Given the description of an element on the screen output the (x, y) to click on. 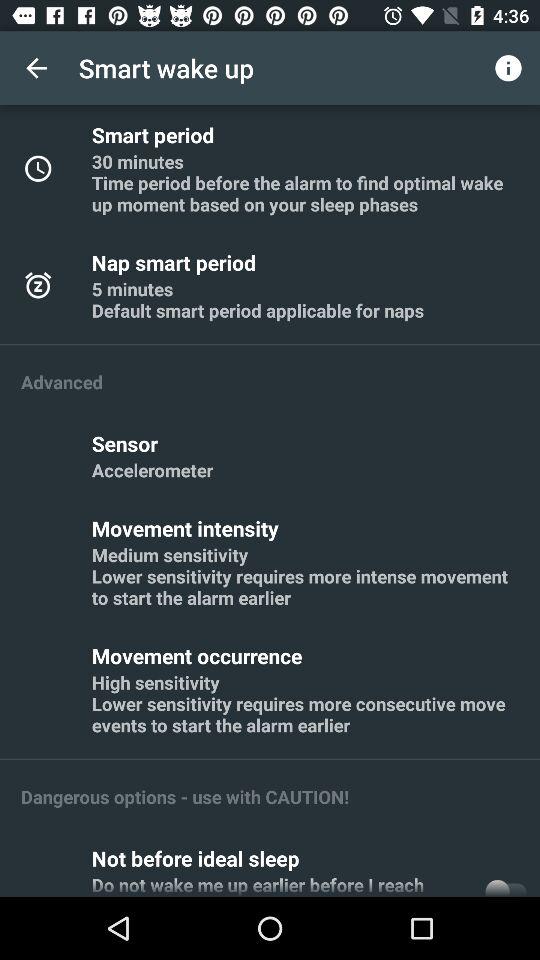
open 5 minutes default (257, 299)
